Given the description of an element on the screen output the (x, y) to click on. 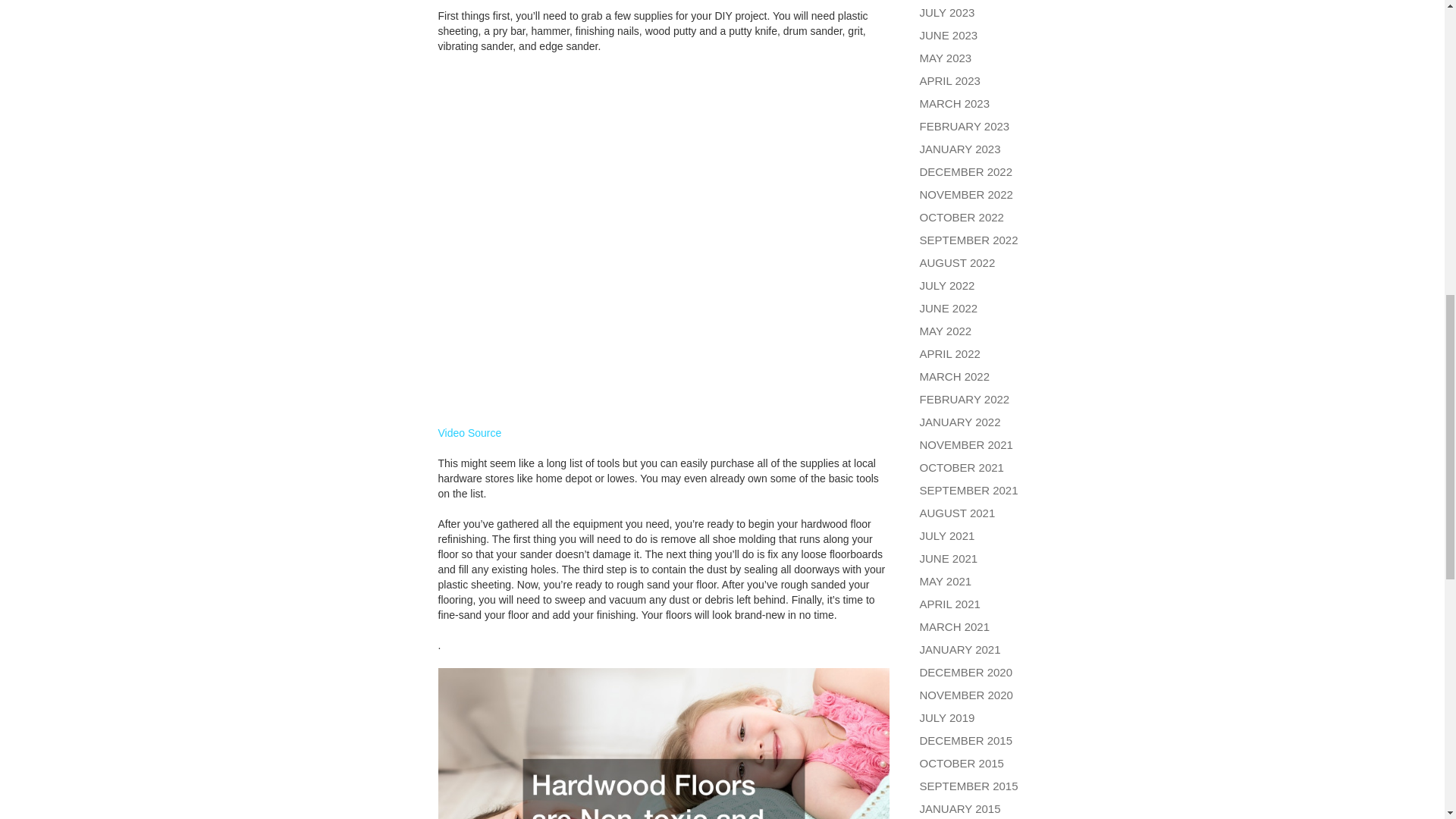
JULY 2023 (946, 11)
JUNE 2023 (947, 34)
MAY 2023 (944, 57)
Video Source (470, 432)
